Given the description of an element on the screen output the (x, y) to click on. 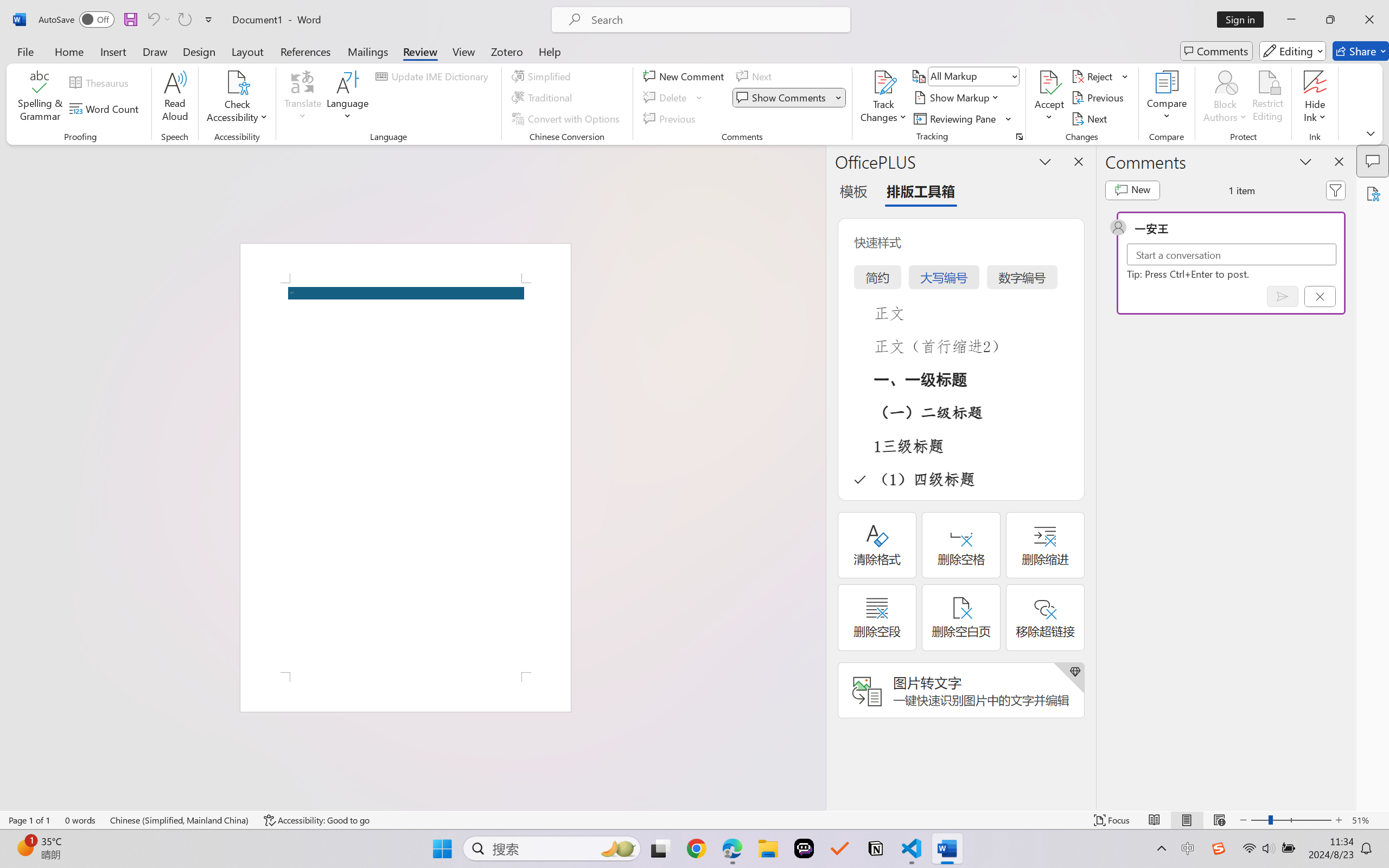
Display for Review (973, 75)
Language Chinese (Simplified, Mainland China) (179, 819)
Post comment (Ctrl + Enter) (1282, 296)
New comment (1132, 190)
Hide Ink (1315, 97)
Reviewing Pane (962, 118)
Reject (1100, 75)
